Given the description of an element on the screen output the (x, y) to click on. 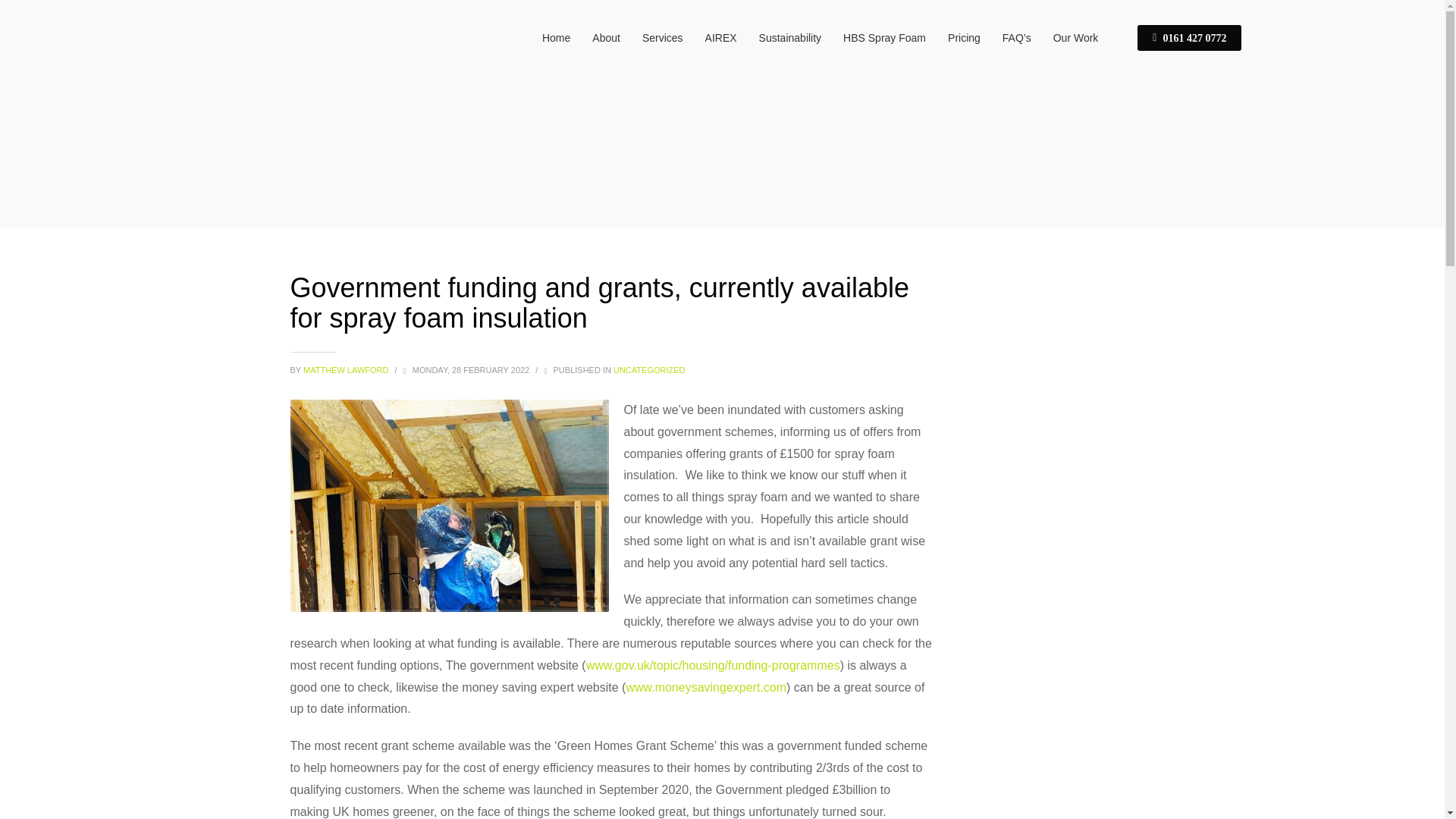
UNCATEGORIZED (648, 369)
Contact Us (1189, 38)
About (605, 37)
Our Work (1075, 37)
Pricing (964, 37)
MATTHEW LAWFORD (346, 369)
HBS Spray Foam (884, 37)
www.moneysavingexpert.com (706, 686)
Home (555, 37)
AIREX (720, 37)
